Given the description of an element on the screen output the (x, y) to click on. 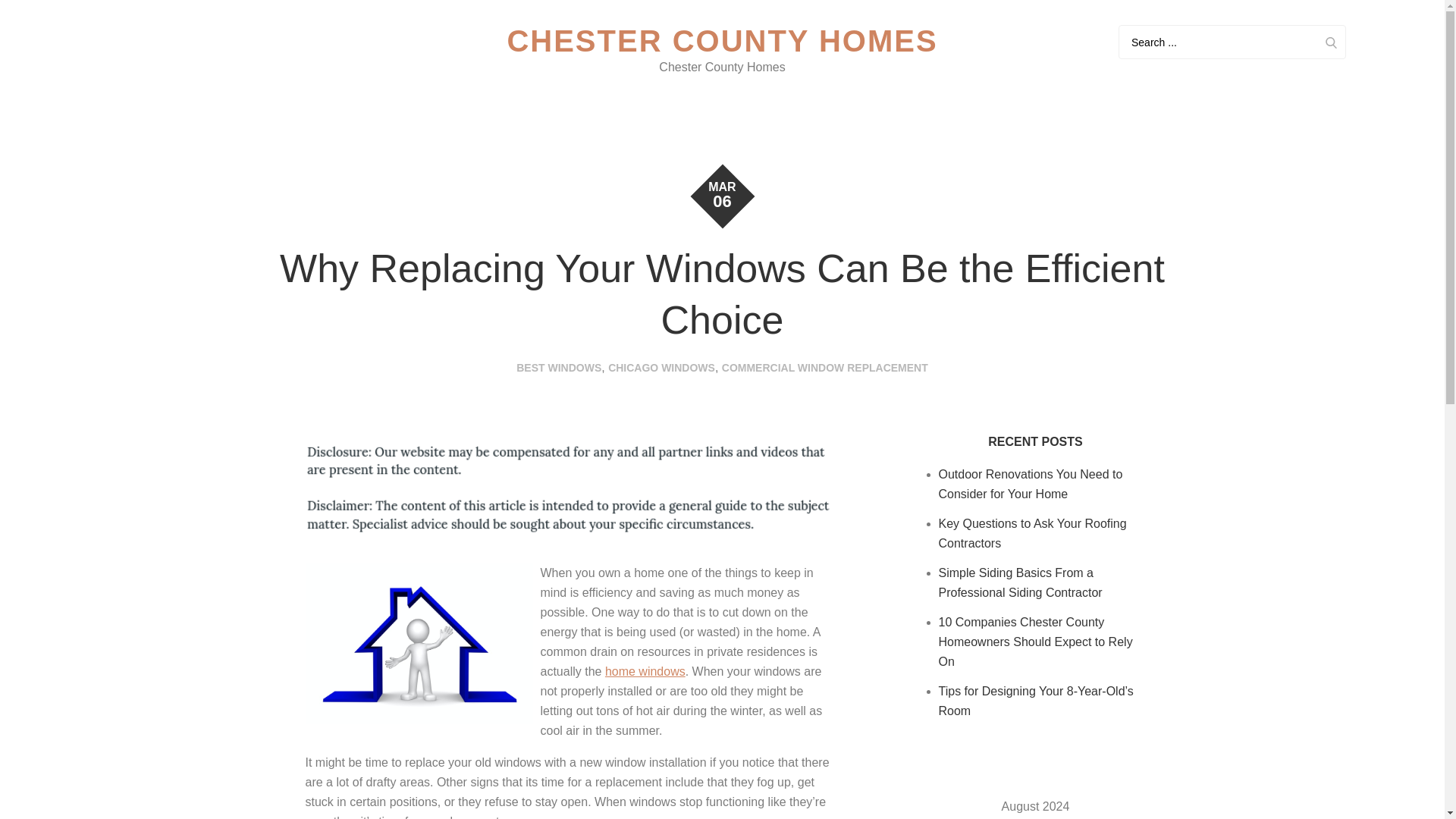
CHESTER COUNTY HOMES (721, 40)
Find more information about Commercial window replacement (645, 671)
COMMERCIAL WINDOW REPLACEMENT (825, 367)
CHICAGO WINDOWS (661, 367)
home windows (645, 671)
Simple Siding Basics From a Professional Siding Contractor (1020, 582)
Search for: (1231, 41)
BEST WINDOWS (558, 367)
Outdoor Renovations You Need to Consider for Your Home (1030, 483)
